Given the description of an element on the screen output the (x, y) to click on. 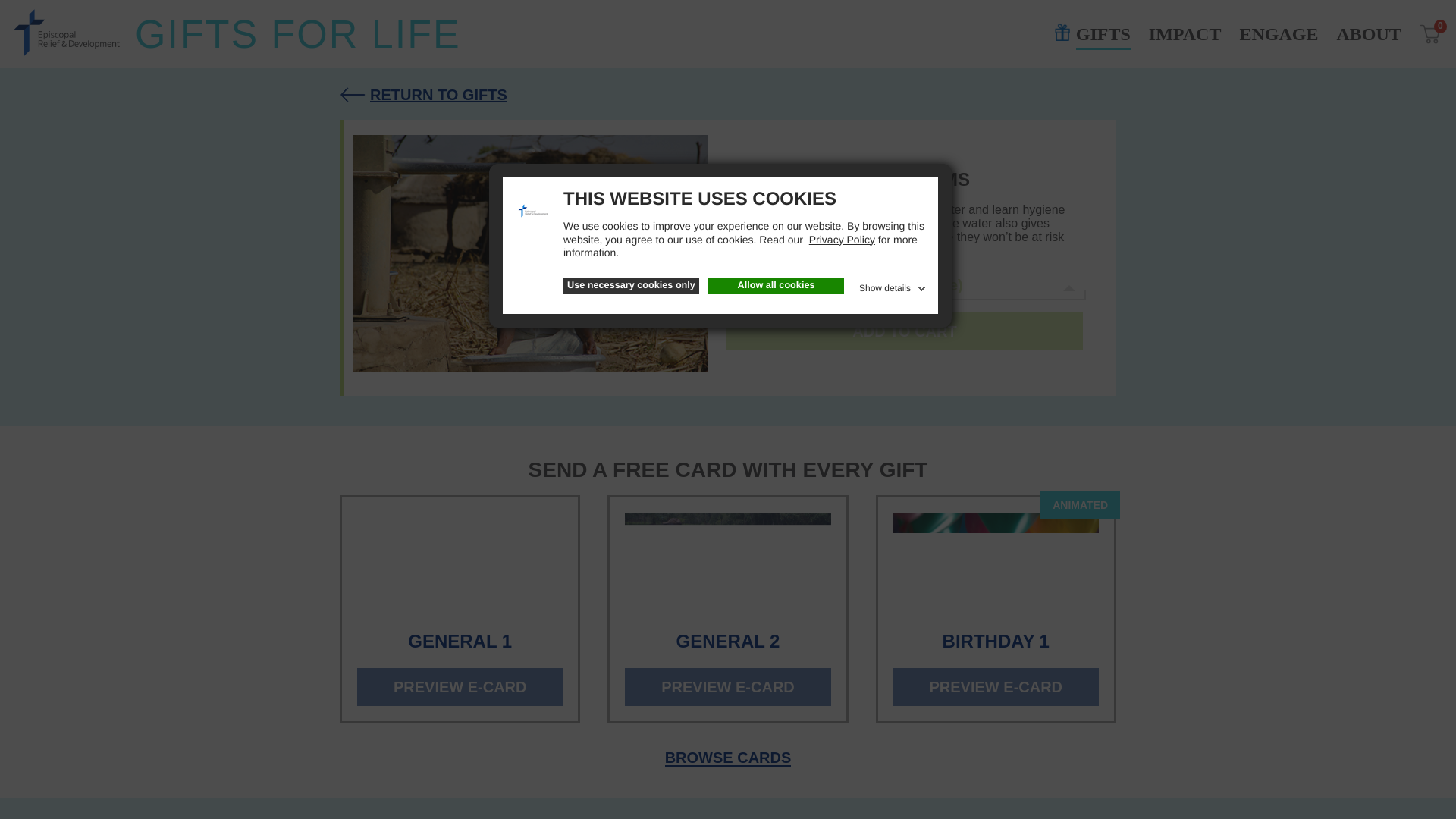
Show details (893, 285)
Allow all cookies (775, 285)
Privacy Policy (842, 239)
Use necessary cookies only (630, 285)
